Given the description of an element on the screen output the (x, y) to click on. 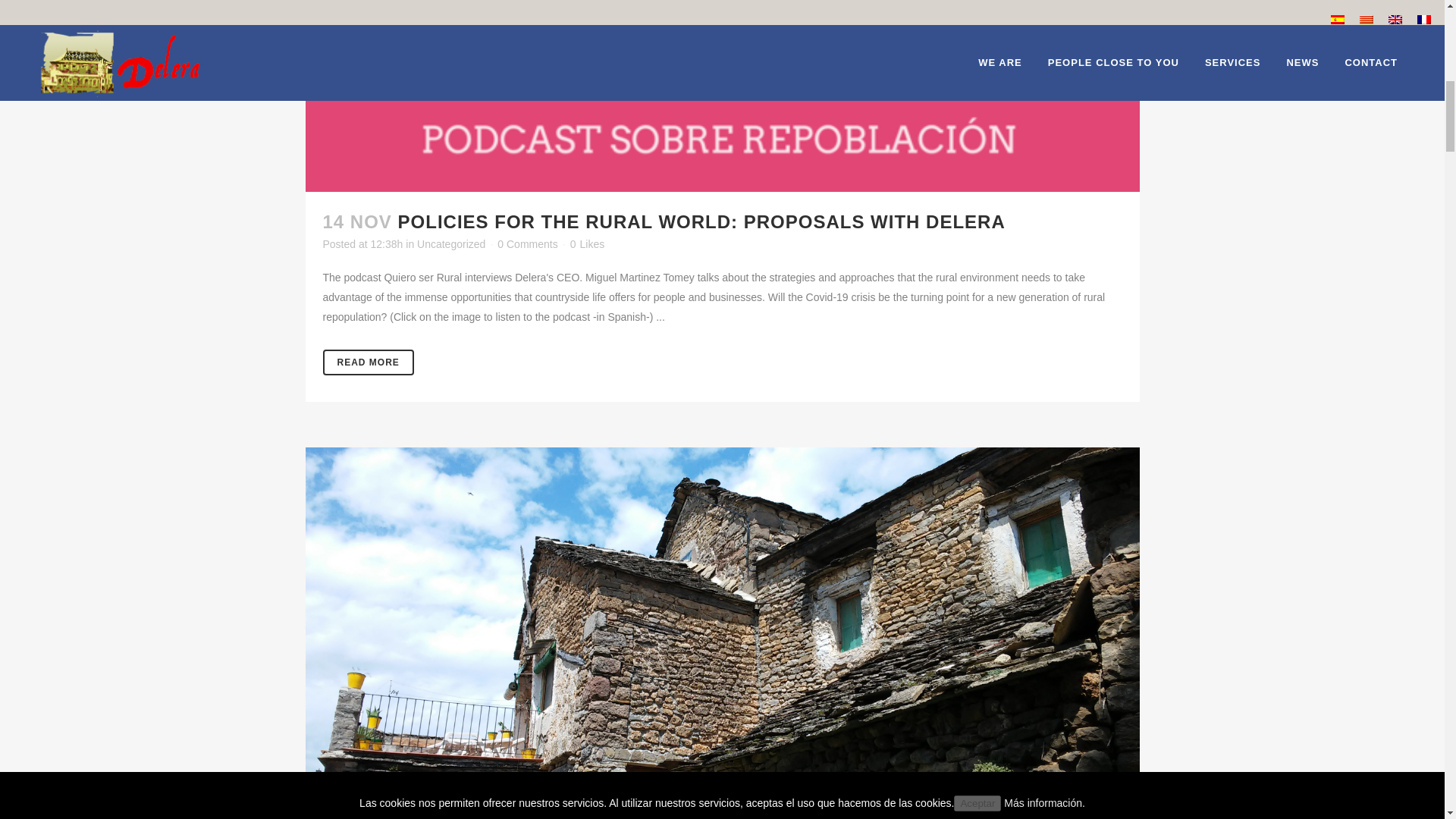
READ MORE (368, 362)
0 Likes (587, 244)
Like this (587, 244)
Policies for the rural world: proposals with Delera (701, 221)
0 Comments (527, 244)
POLICIES FOR THE RURAL WORLD: PROPOSALS WITH DELERA (701, 221)
